Given the description of an element on the screen output the (x, y) to click on. 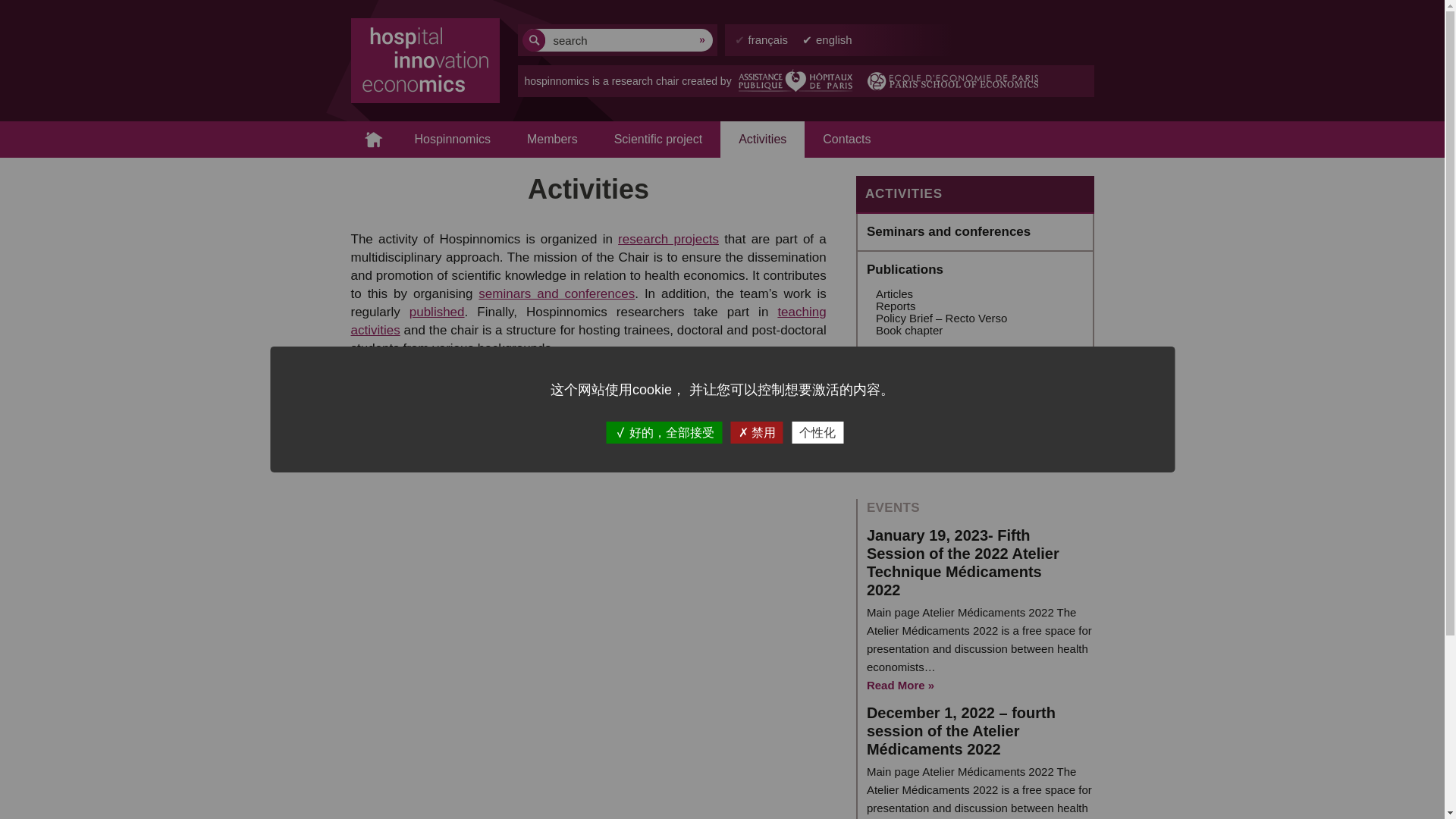
Seminars and conferences (948, 231)
research projects (668, 238)
Articles (894, 293)
published (436, 311)
Members (551, 139)
Home (373, 139)
Current projects (916, 373)
Scientific project (657, 139)
Reports (895, 305)
Activities (762, 139)
